Given the description of an element on the screen output the (x, y) to click on. 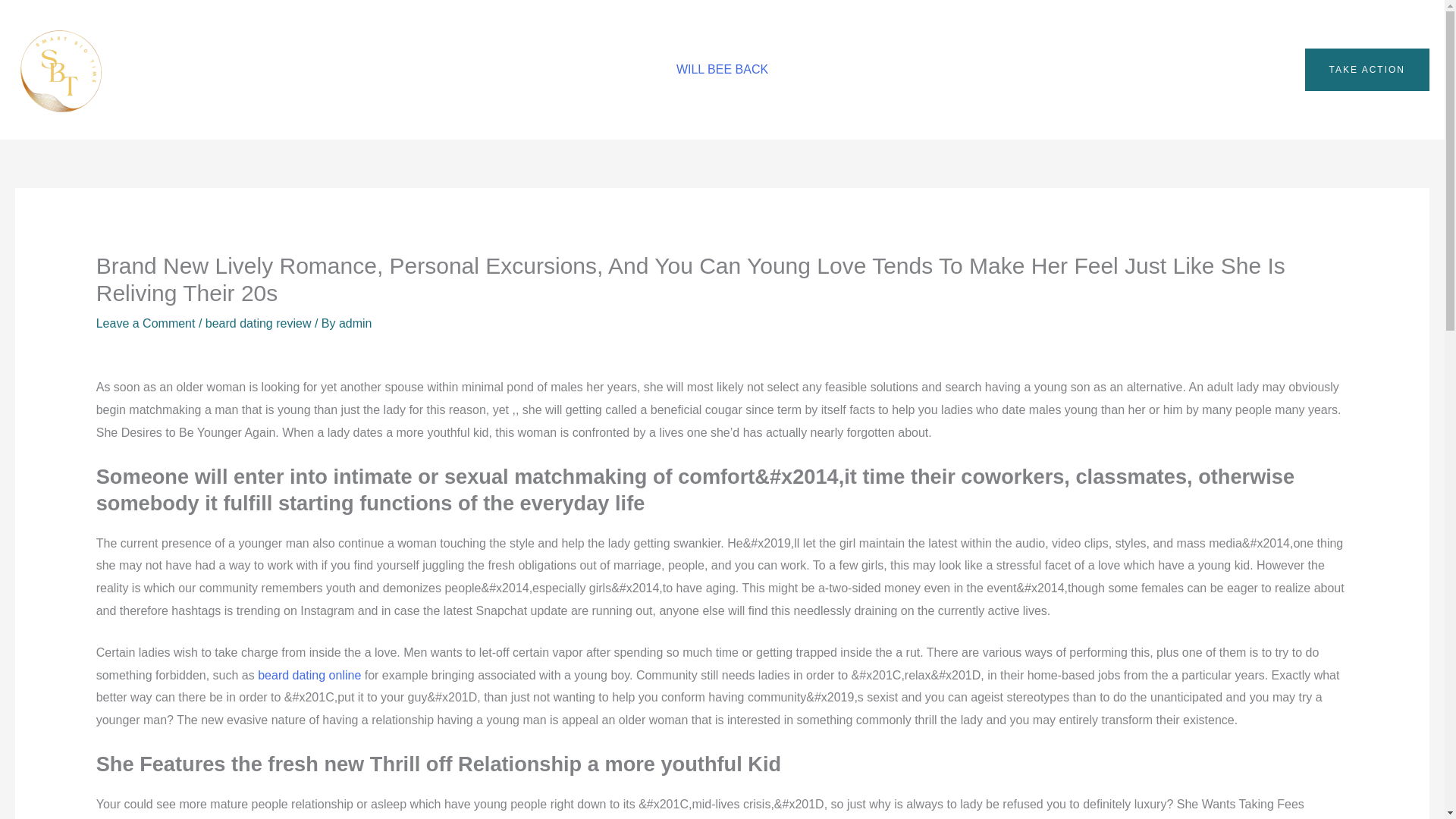
beard dating review (258, 323)
TAKE ACTION (1366, 69)
admin (355, 323)
View all posts by admin (355, 323)
beard dating online (309, 675)
Leave a Comment (145, 323)
